Given the description of an element on the screen output the (x, y) to click on. 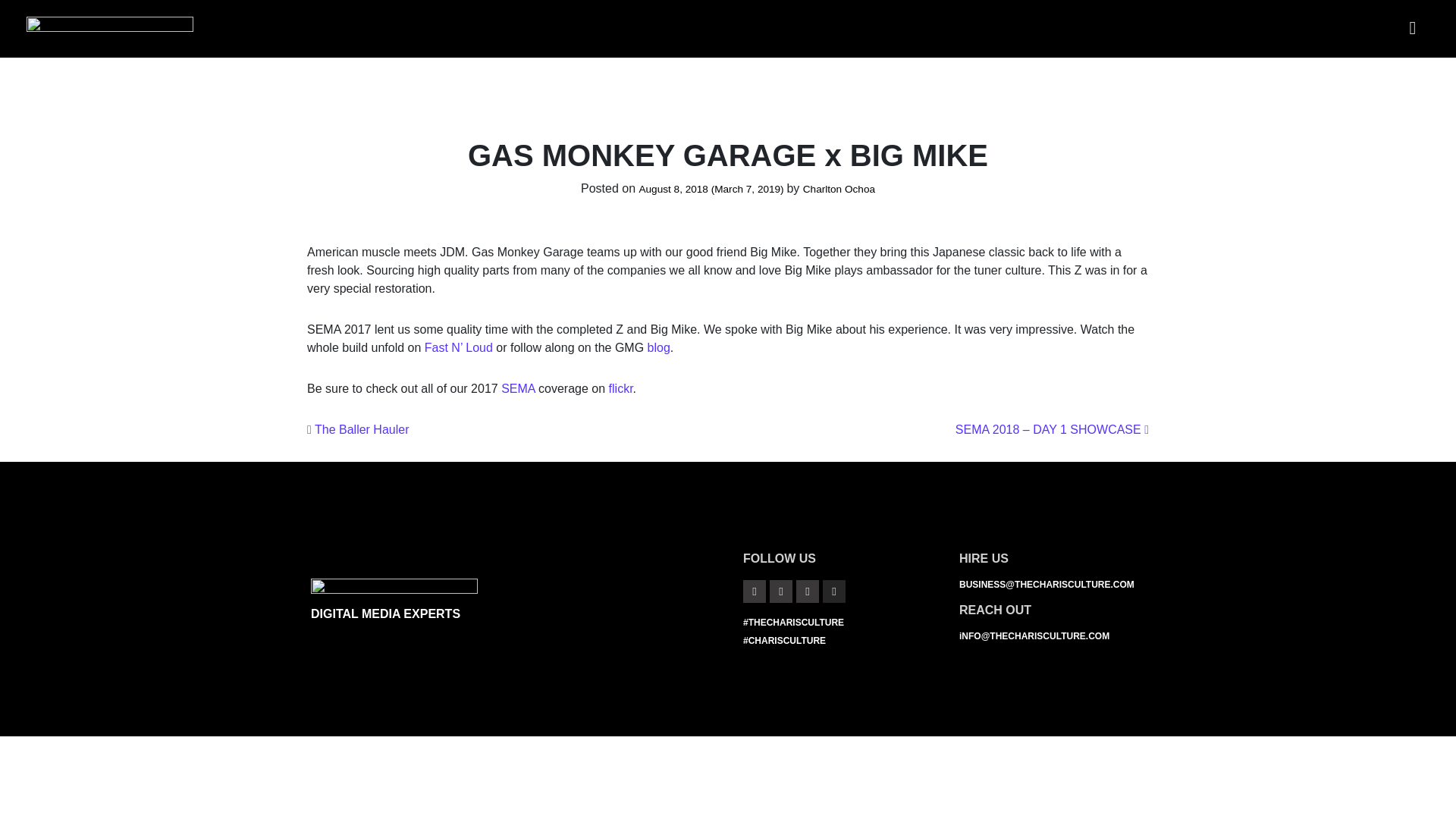
Charlton Ochoa (839, 188)
SEMA (517, 388)
blog (658, 347)
 The Baller Hauler (358, 429)
flickr (620, 388)
